Given the description of an element on the screen output the (x, y) to click on. 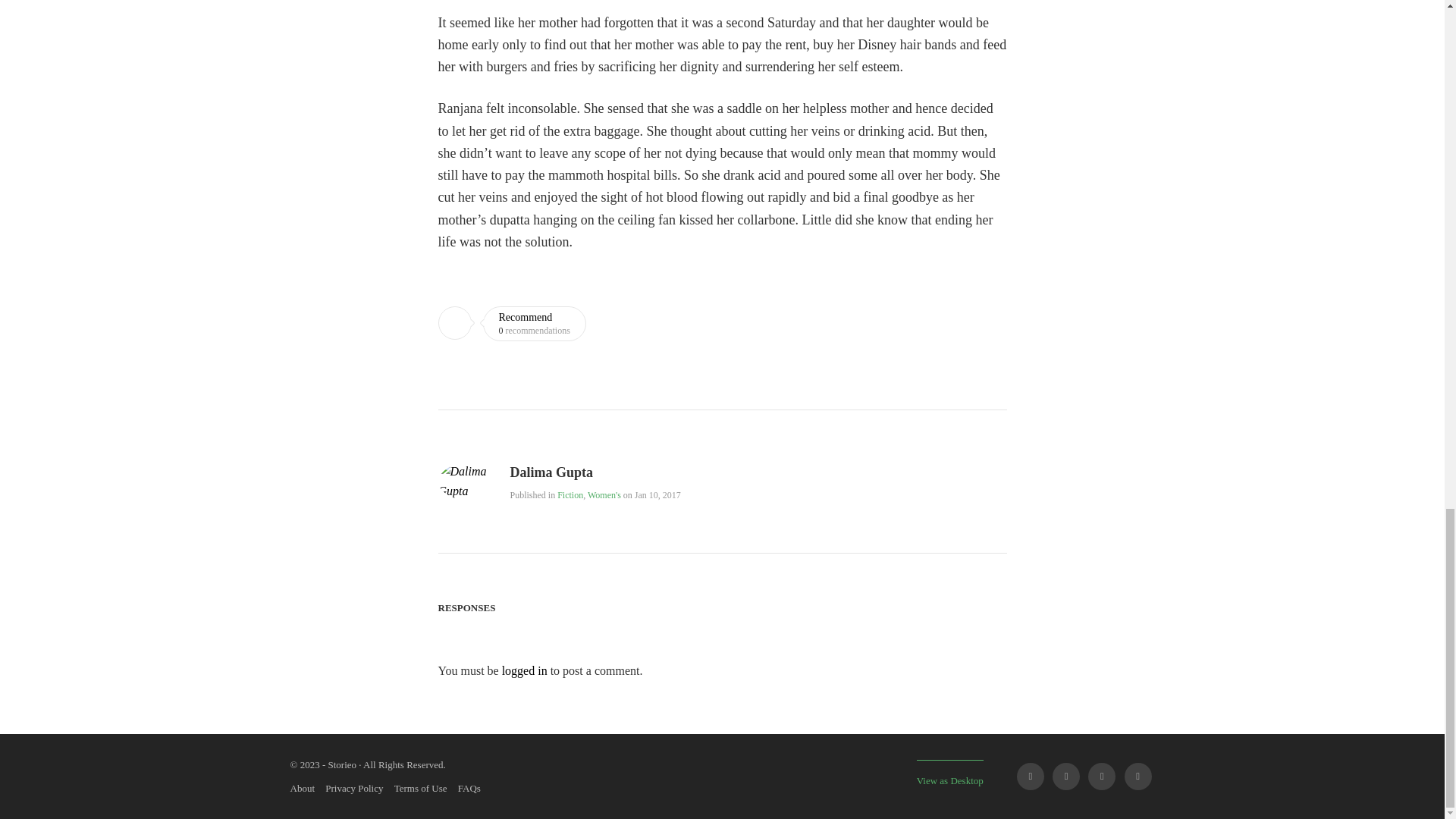
linkedin (1101, 776)
instagram (1137, 776)
View all posts by Dalima Gupta (550, 472)
View all posts by Dalima Gupta (474, 490)
twitter (1066, 776)
Recommend this article (512, 323)
View as Desktop (950, 773)
facebook (1029, 776)
7:50 am (657, 494)
